Given the description of an element on the screen output the (x, y) to click on. 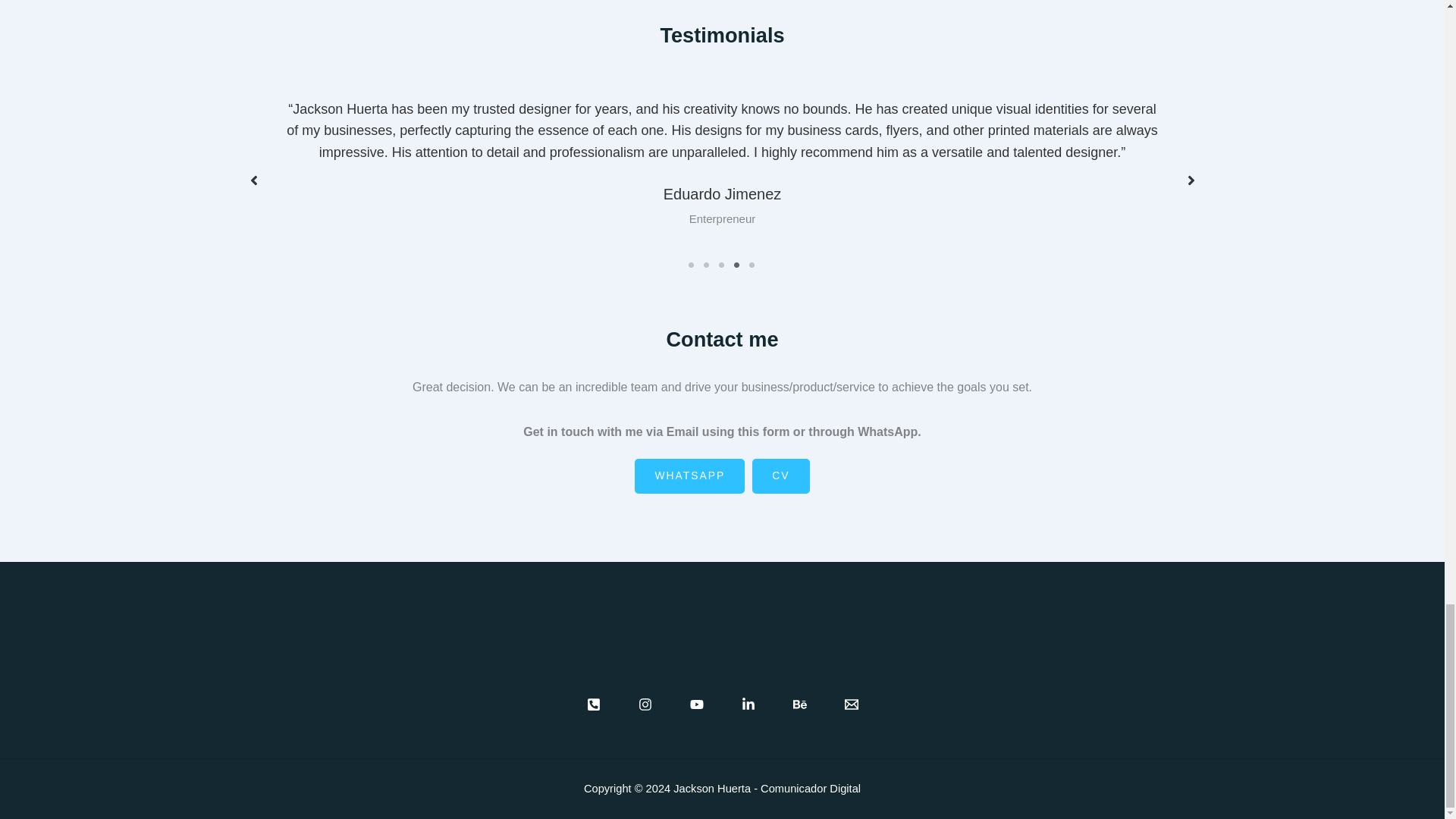
2 (706, 264)
WHATSAPP (689, 475)
CV (780, 475)
3 (721, 264)
1 (691, 264)
4 (736, 264)
5 (752, 264)
